Given the description of an element on the screen output the (x, y) to click on. 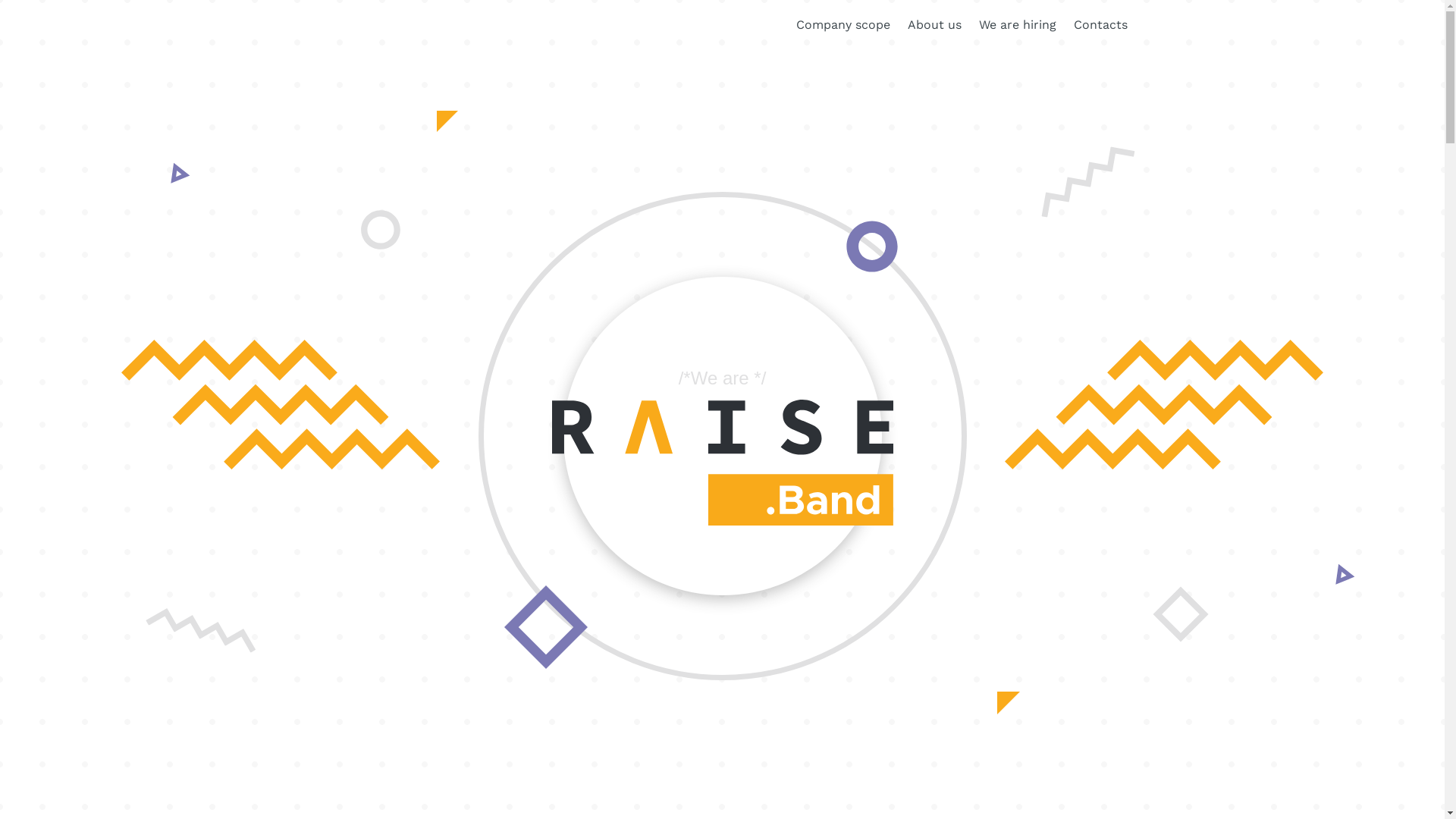
We are hiring Element type: text (1016, 23)
About us Element type: text (933, 23)
Company scope Element type: text (843, 23)
Contacts Element type: text (1100, 23)
